Given the description of an element on the screen output the (x, y) to click on. 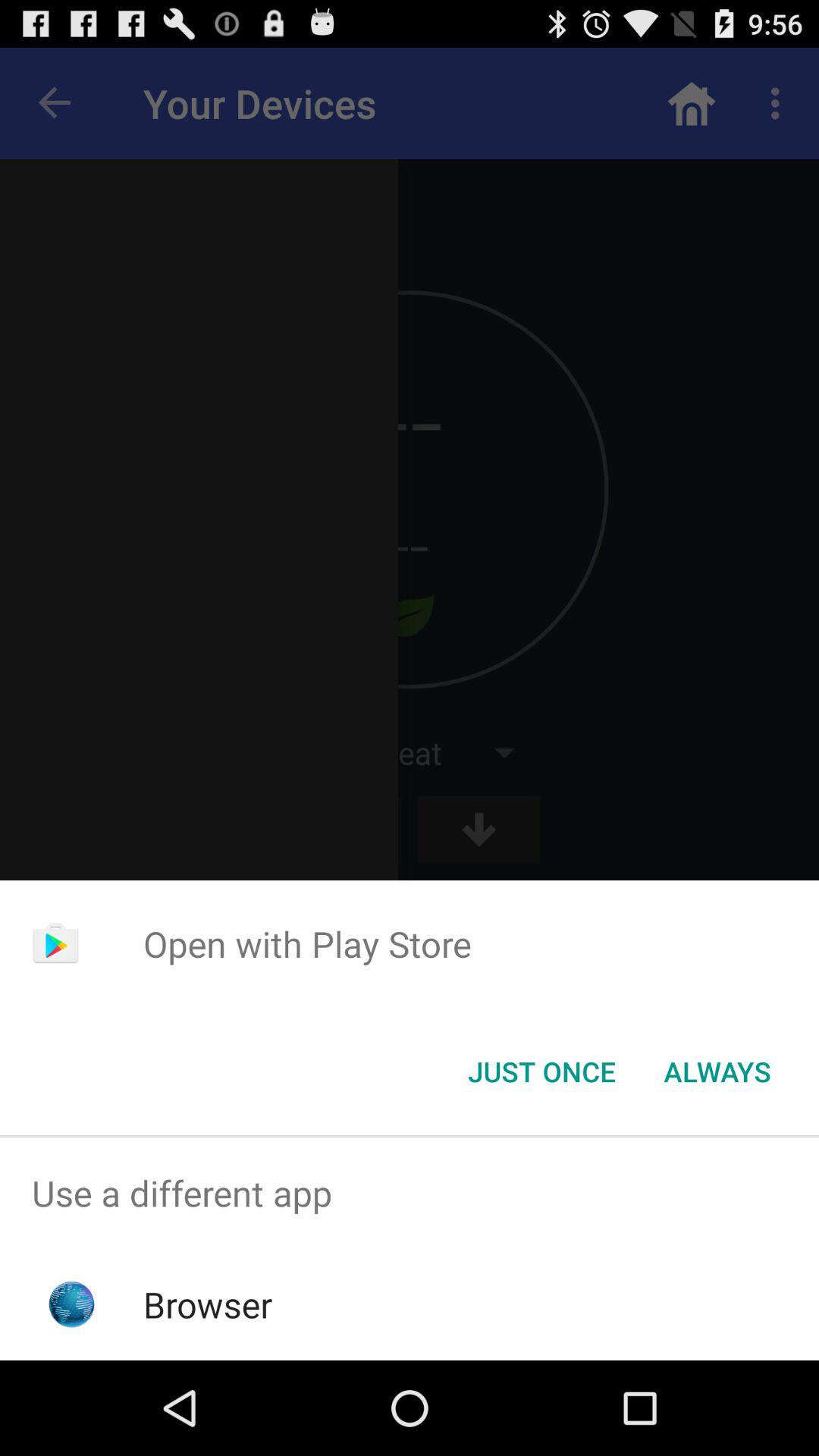
turn on the item at the bottom right corner (717, 1071)
